Given the description of an element on the screen output the (x, y) to click on. 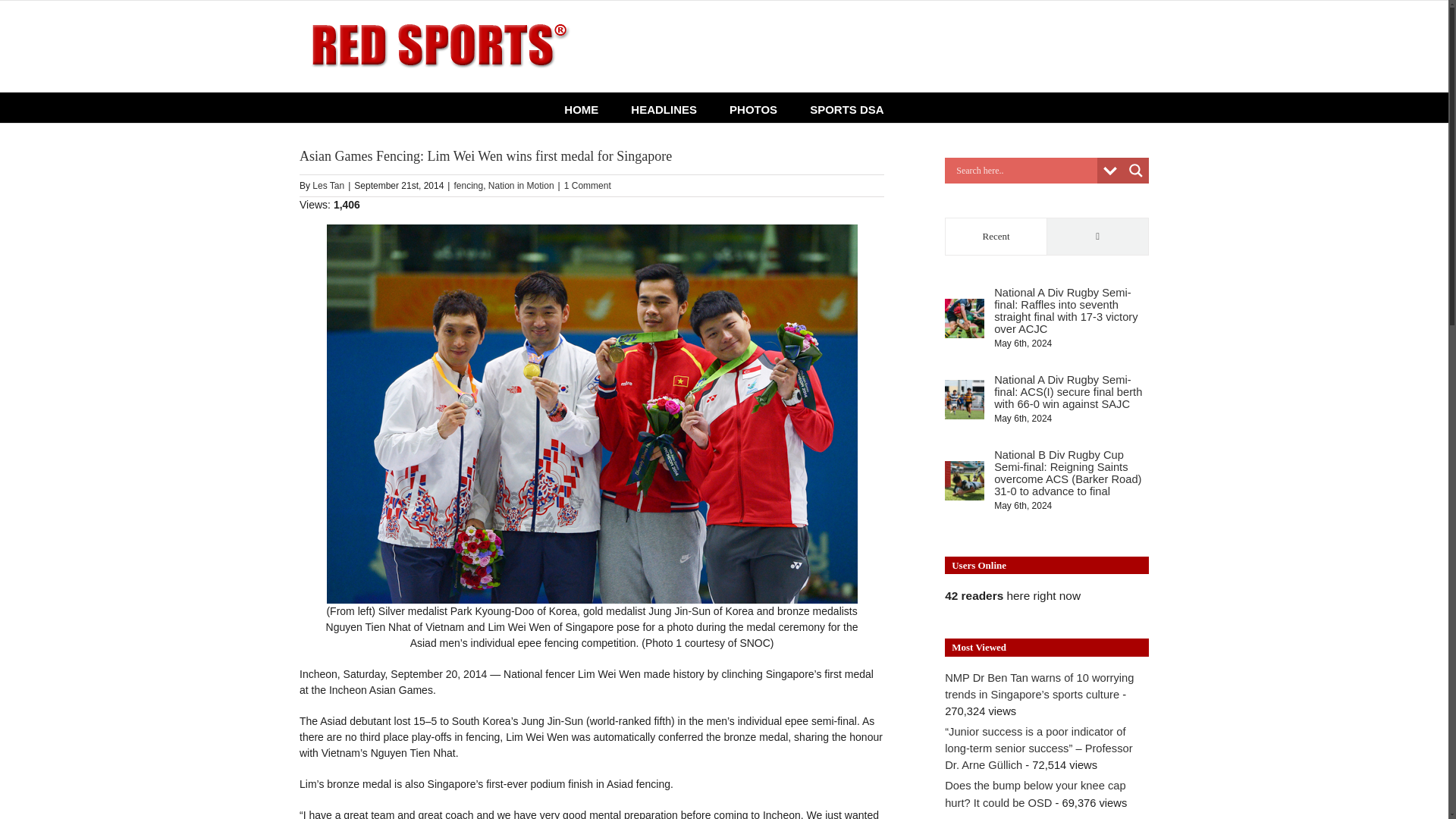
Does the bump below your knee cap hurt? It could be OSD (1034, 793)
1 Comment (587, 185)
Posts by Les Tan (328, 185)
Nation in Motion (520, 185)
HEADLINES (663, 107)
Les Tan (328, 185)
PHOTOS (753, 107)
fencing (467, 185)
HOME (581, 107)
SPORTS DSA (846, 107)
